Given the description of an element on the screen output the (x, y) to click on. 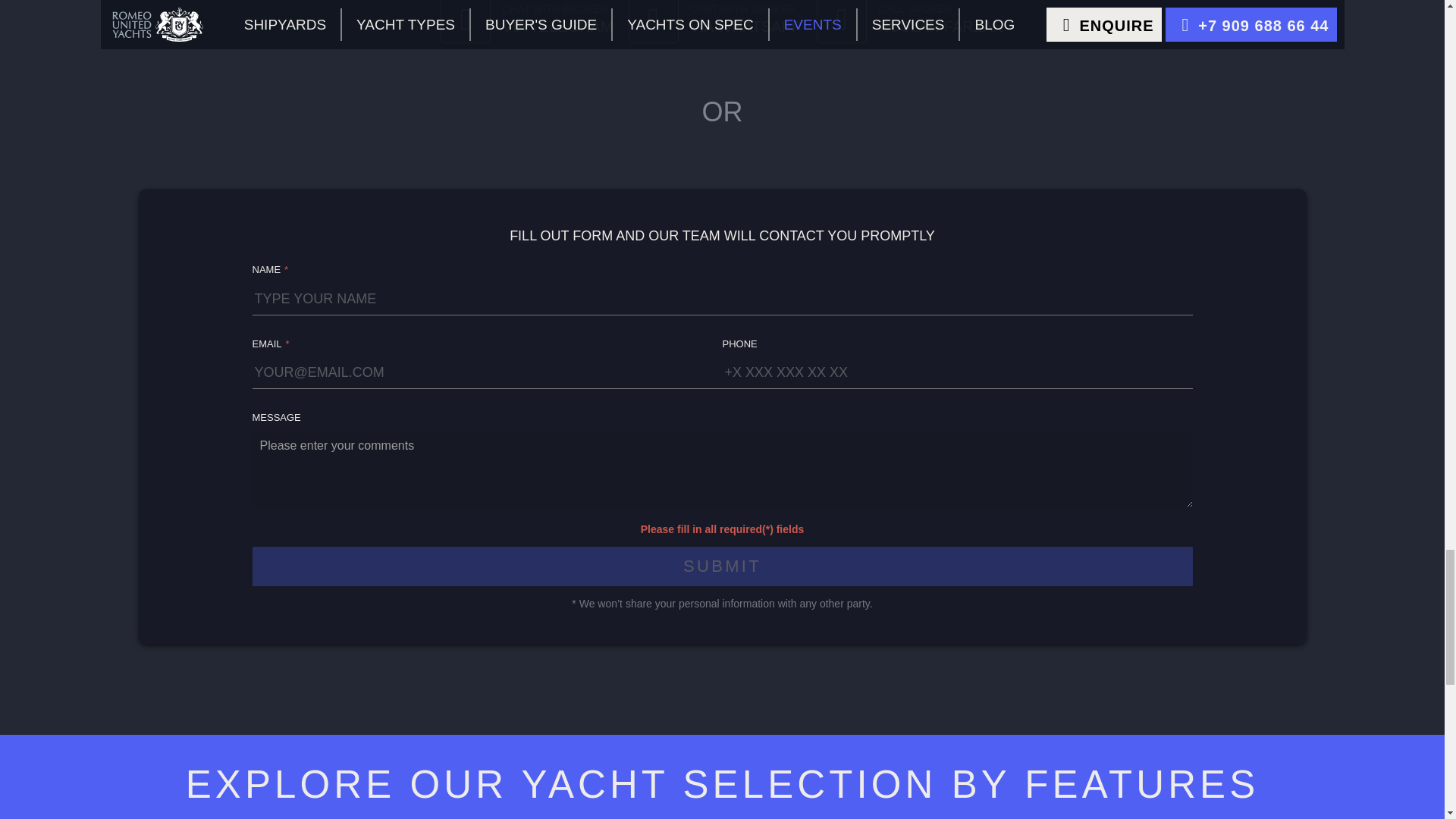
Submit (721, 566)
